Given the description of an element on the screen output the (x, y) to click on. 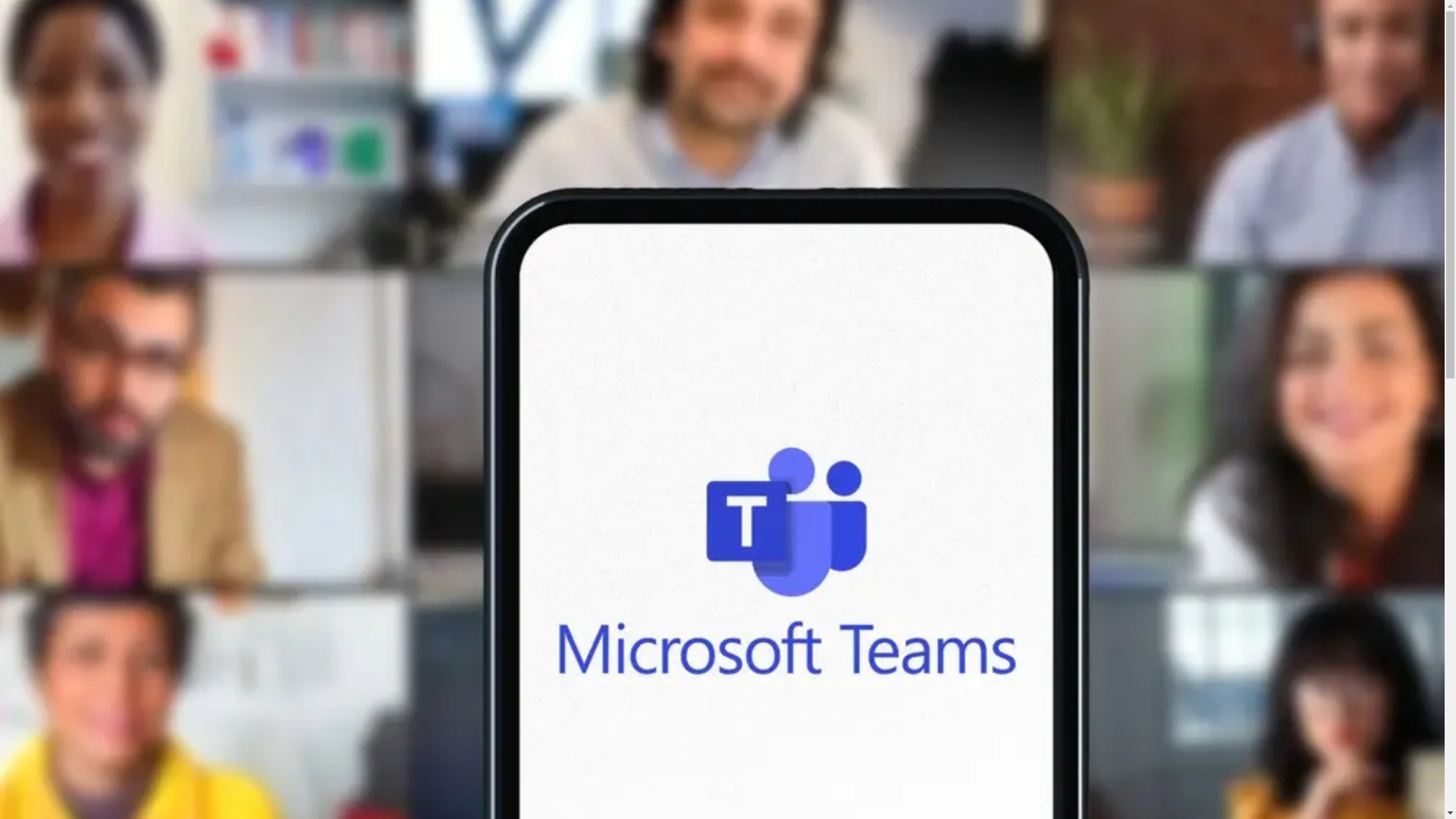
Share to Facebook (66, 583)
Share to LinkedIn (14, 185)
Blog (17, 97)
article (75, 213)
Share to Facebook (51, 185)
Maximum Security (1333, 422)
Share to WhatsApp (90, 583)
270 million (1235, 213)
Share to Twitter (42, 583)
making the rounds (118, 318)
Share to LinkedIn (17, 583)
Share to Twitter (33, 185)
Create Comment (49, 756)
Share to WhatsApp (69, 185)
Security (56, 97)
